Given the description of an element on the screen output the (x, y) to click on. 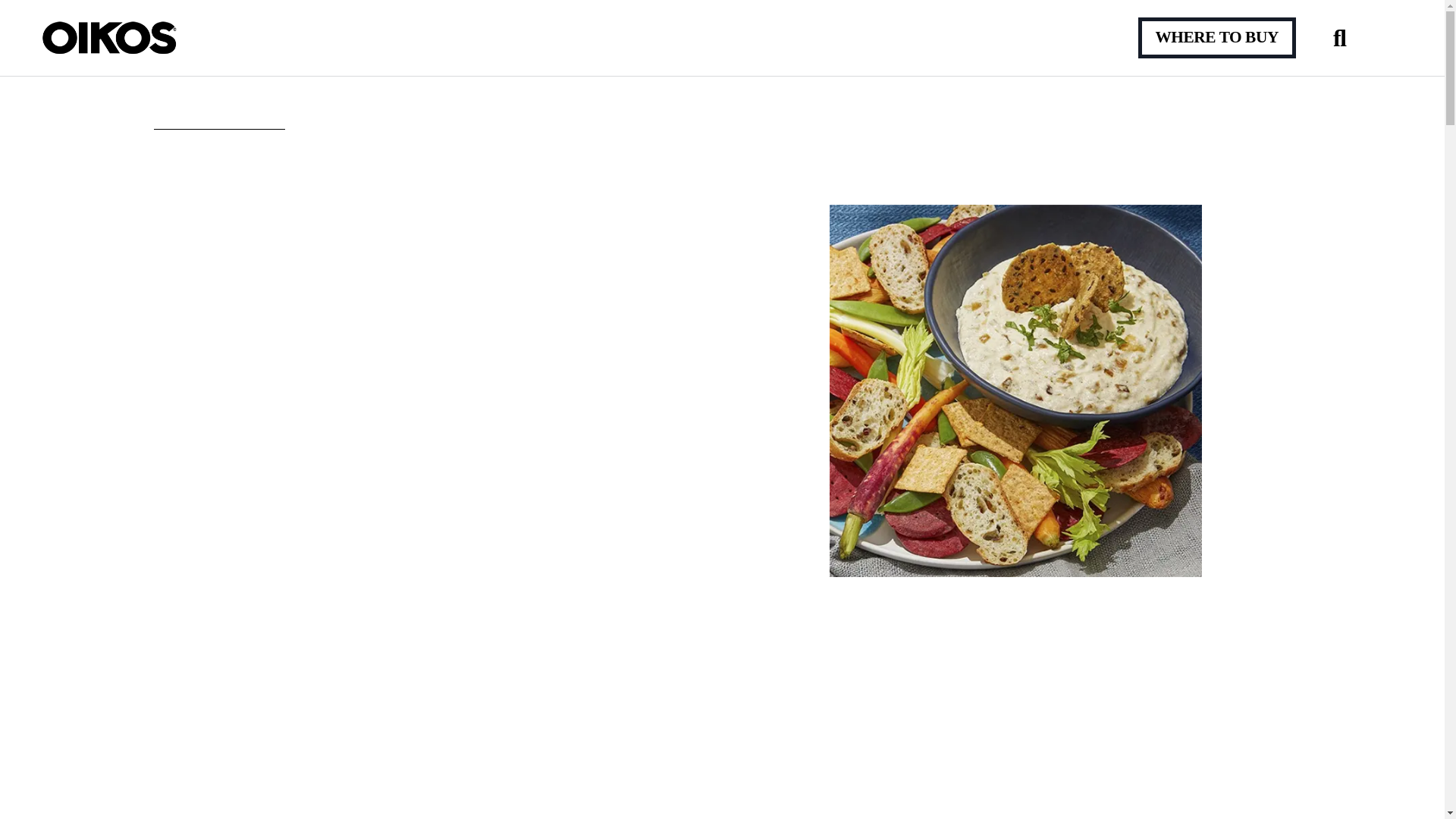
WHERE TO BUY (1216, 37)
